Given the description of an element on the screen output the (x, y) to click on. 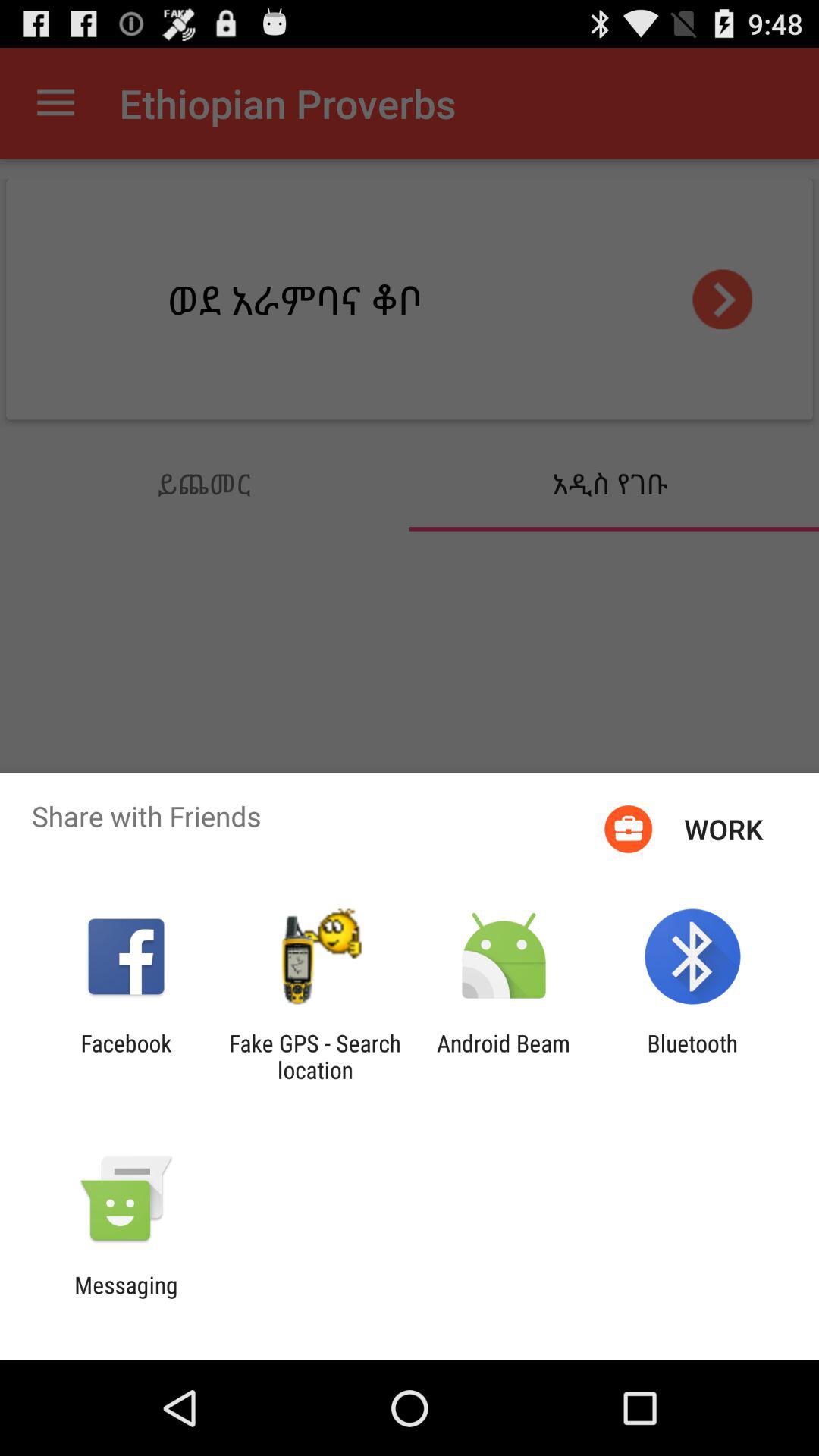
select app at the bottom right corner (692, 1056)
